Given the description of an element on the screen output the (x, y) to click on. 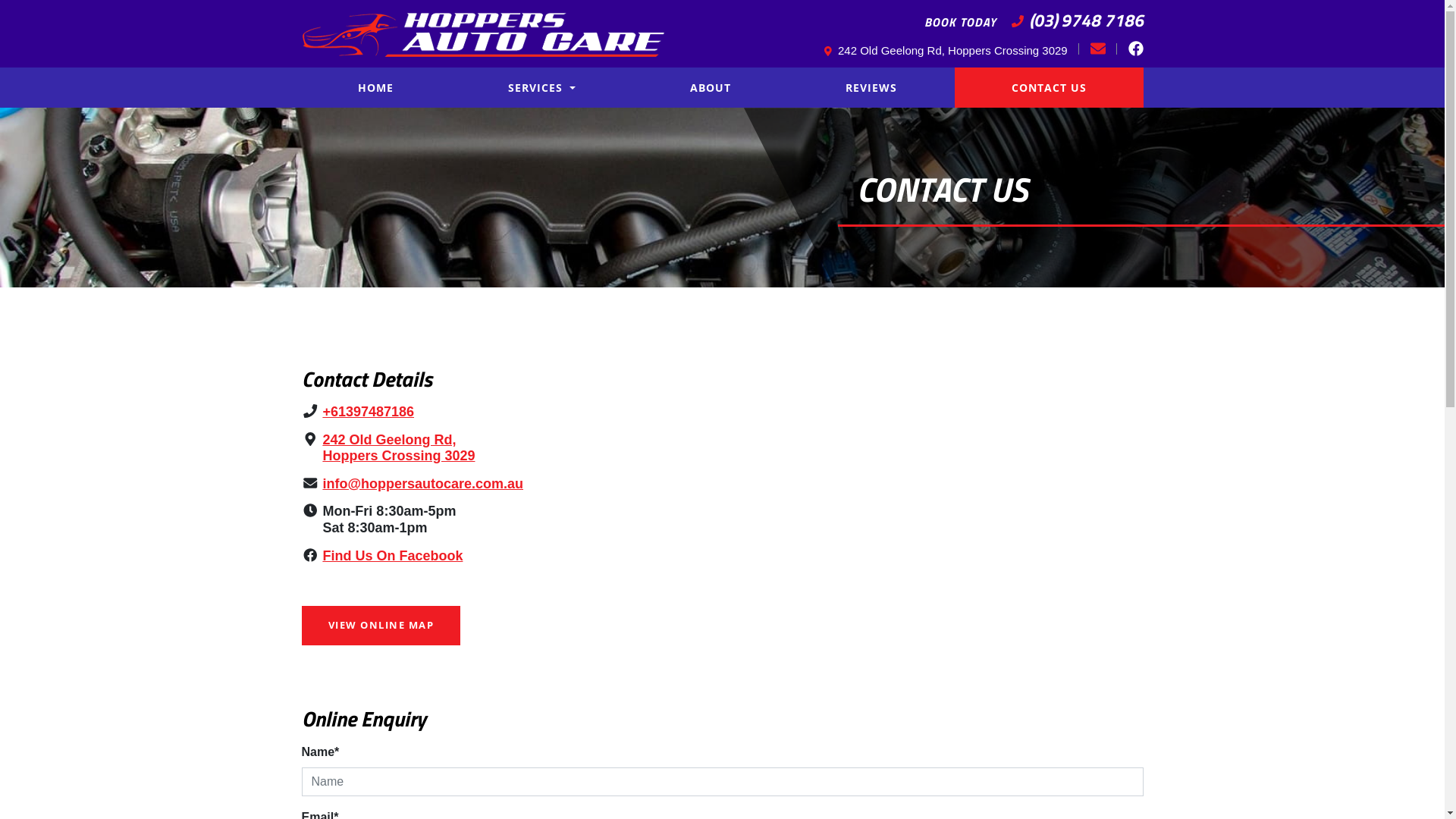
HOME Element type: text (375, 87)
VIEW ONLINE MAP Element type: text (381, 625)
CONTACT US Element type: text (1048, 87)
242 Old Geelong Rd, Hoppers Crossing 3029 Element type: text (945, 49)
ABOUT Element type: text (710, 87)
242 Old Geelong Rd,
Hoppers Crossing 3029 Element type: text (398, 448)
(03) 9748 7186 Element type: text (1077, 19)
SERVICES Element type: text (541, 87)
Find Us On Facebook Element type: text (392, 555)
REVIEWS Element type: text (870, 87)
+61397487186 Element type: text (368, 412)
info@hoppersautocare.com.au Element type: text (422, 483)
